Given the description of an element on the screen output the (x, y) to click on. 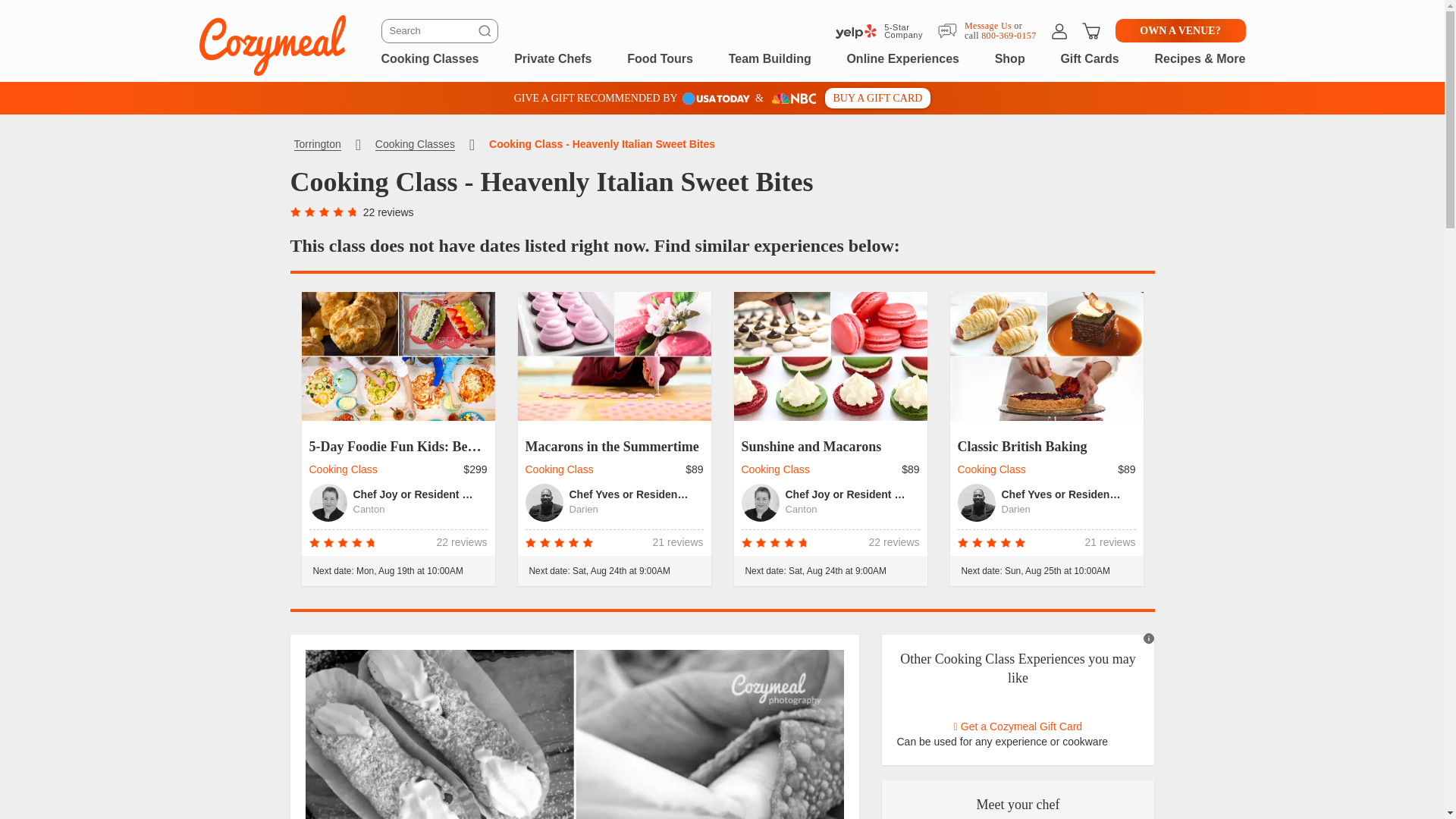
Message Us (987, 24)
Cooking Classes (429, 58)
800-369-0157 (1008, 35)
22 reviews (387, 212)
